Given the description of an element on the screen output the (x, y) to click on. 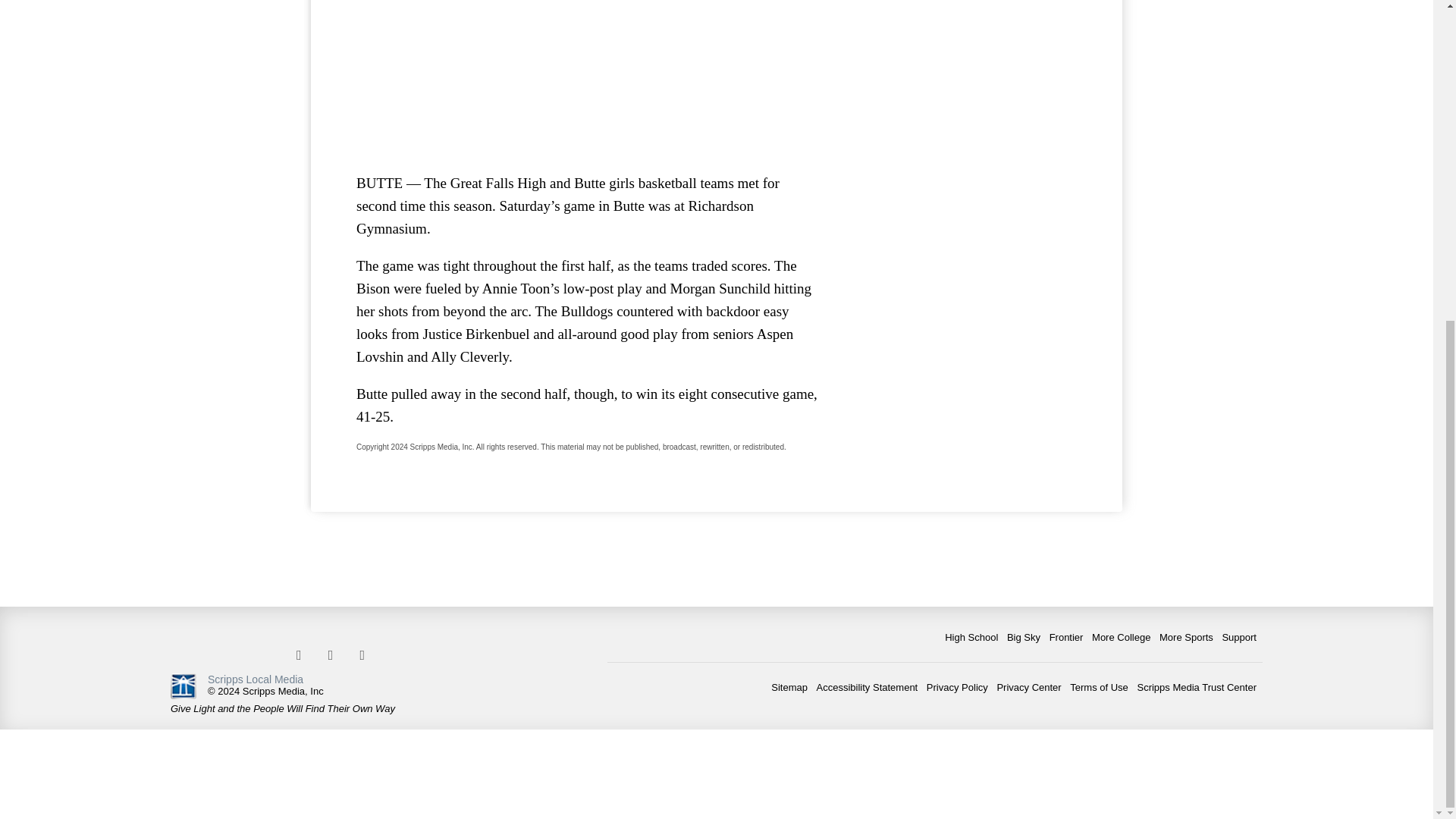
YouTube player (587, 79)
3rd party ad content (962, 91)
